Given the description of an element on the screen output the (x, y) to click on. 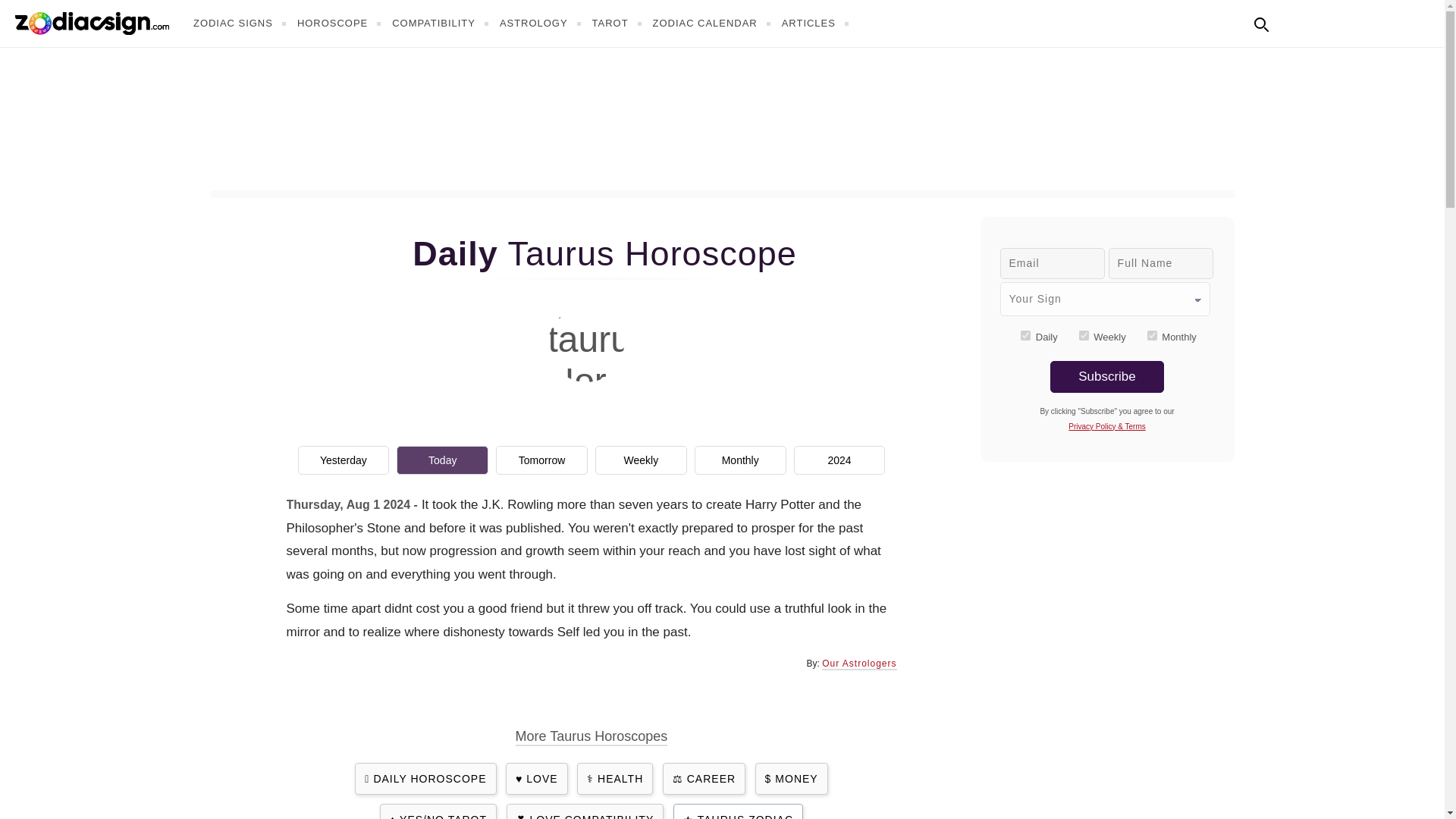
monthly (1152, 335)
weekly (1083, 335)
ZODIAC SIGNS (241, 23)
In English (1294, 21)
HOROSCOPE (341, 23)
daily (1025, 335)
